Given the description of an element on the screen output the (x, y) to click on. 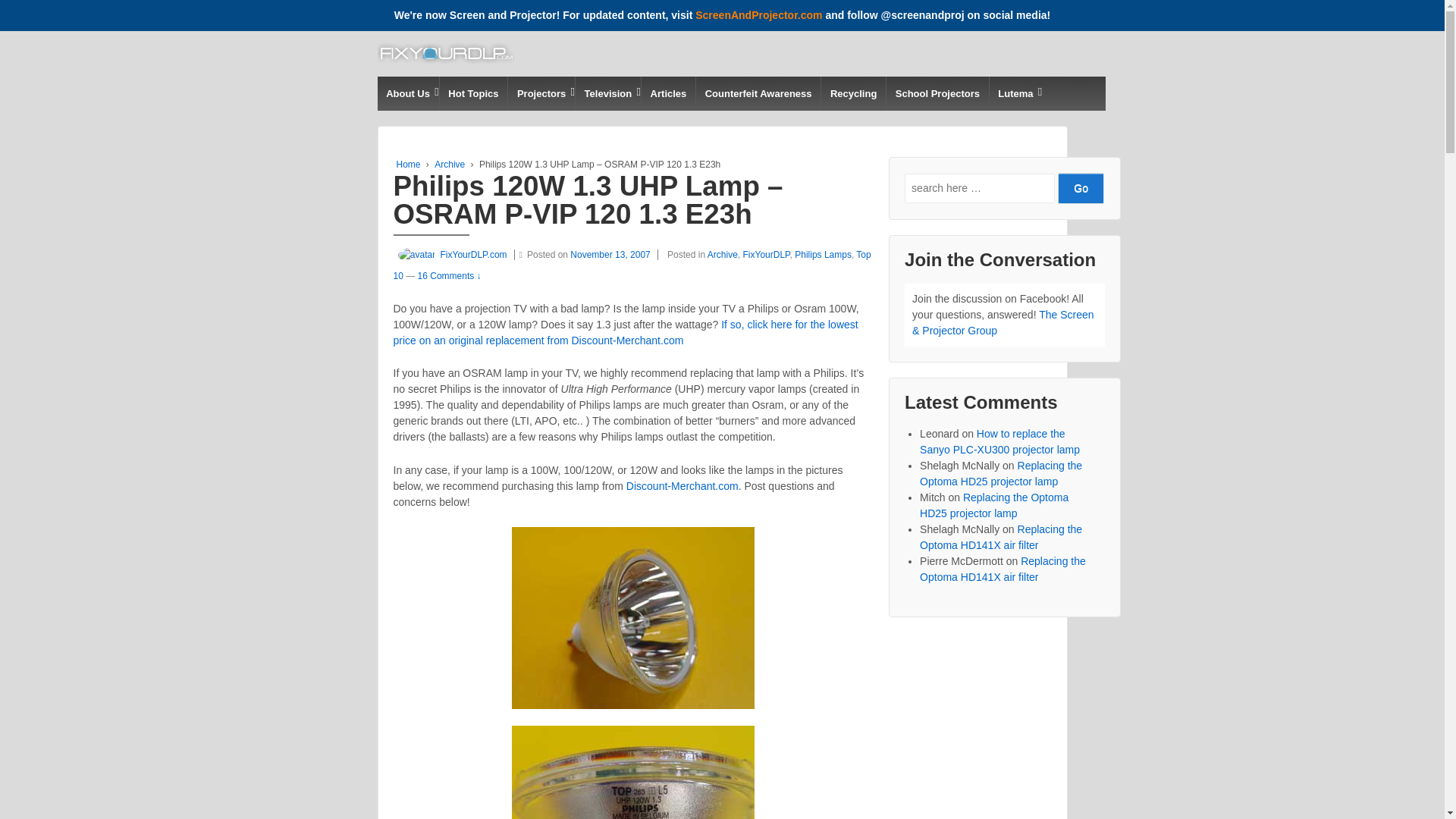
Lutema (1015, 93)
View all posts by FixYourDLP.com (449, 254)
Archive (448, 163)
Articles (667, 93)
Recycling (853, 93)
About Us (408, 93)
Projectors (540, 93)
ScreenAndProjector.com (758, 15)
School Projectors (936, 93)
Counterfeit Awareness (758, 93)
Television (607, 93)
Go (1080, 187)
Hot Topics (473, 93)
Home (408, 163)
